Given the description of an element on the screen output the (x, y) to click on. 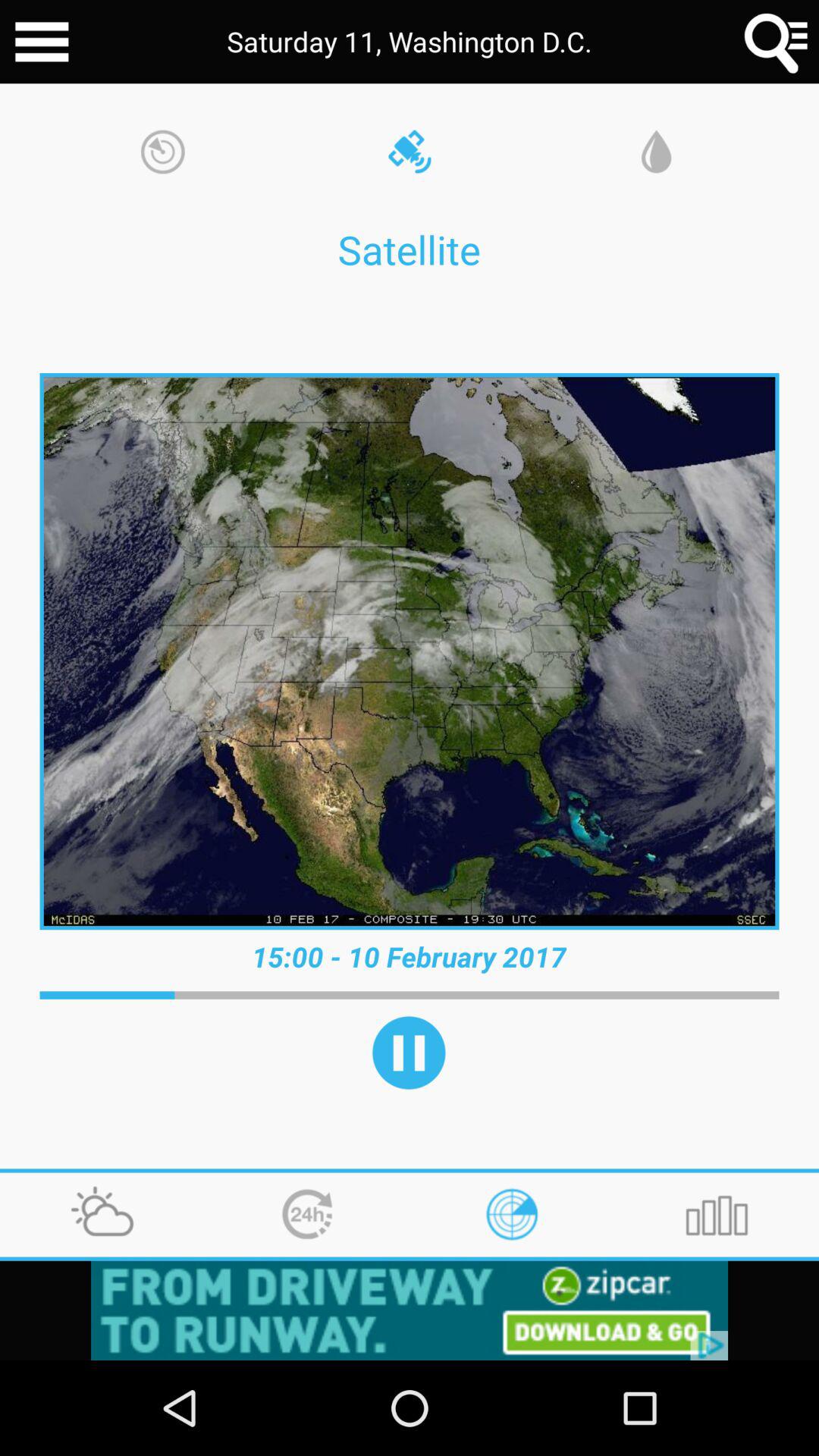
click picture buton (409, 651)
